Given the description of an element on the screen output the (x, y) to click on. 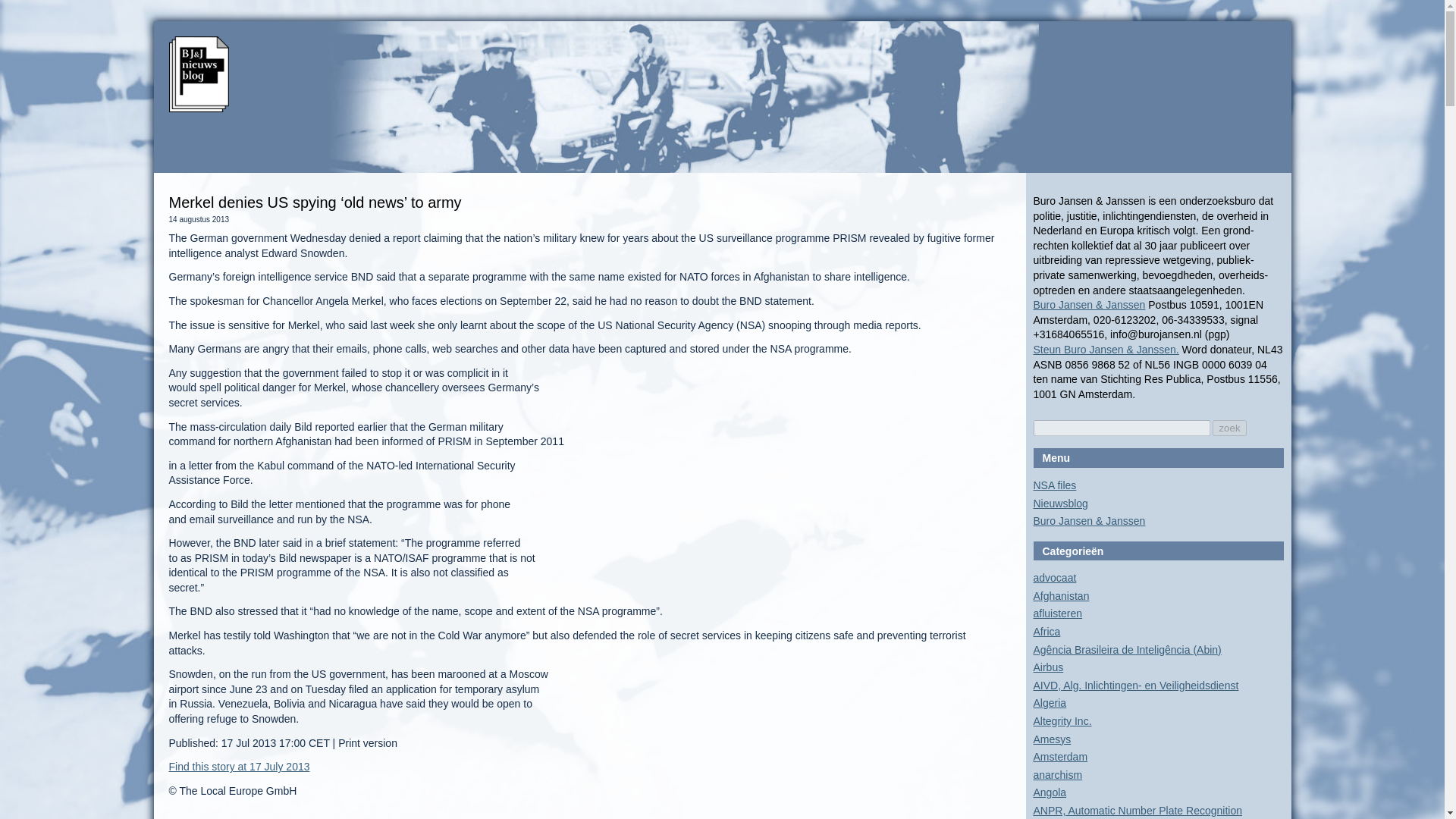
Nieuwsblog (1059, 503)
anarchism (1056, 775)
Airbus (1047, 666)
Amsterdam (1059, 756)
Amesys (1051, 739)
Algeria (1048, 702)
ANPR, Automatic Number Plate Recognition (1136, 810)
Altegrity Inc. (1061, 720)
Angola (1048, 792)
Afghanistan (1060, 595)
zoek (1229, 427)
zoek (1229, 427)
advocaat (1053, 577)
AIVD, Alg. Inlichtingen- en Veiligheidsdienst (1135, 685)
afluisteren (1056, 613)
